Given the description of an element on the screen output the (x, y) to click on. 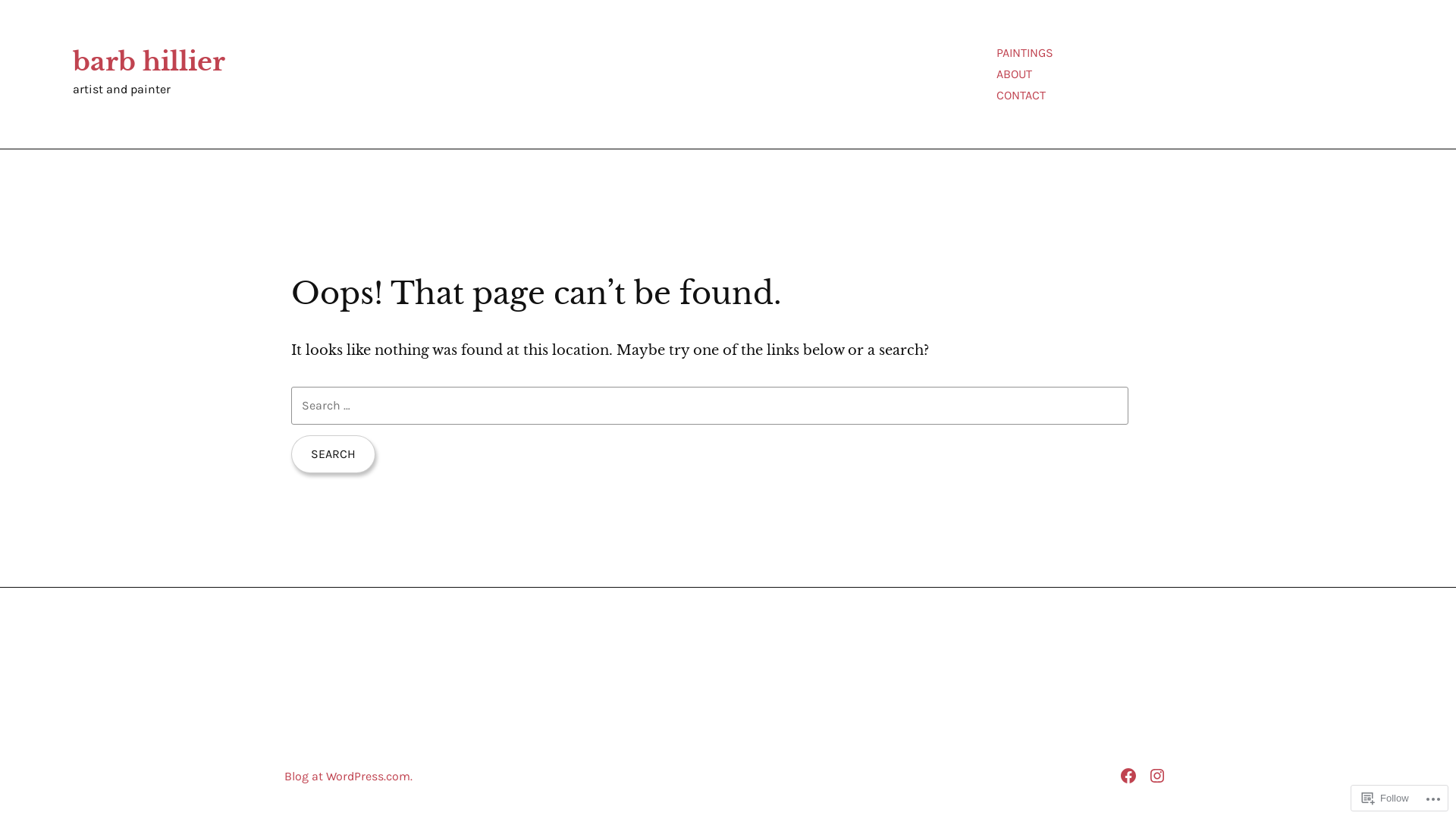
barb hillier Element type: text (148, 61)
Blog at WordPress.com. Element type: text (348, 775)
Follow Element type: text (1385, 797)
CONTACT Element type: text (1020, 95)
PAINTINGS Element type: text (1024, 52)
ABOUT Element type: text (1014, 74)
Search Element type: text (333, 454)
